Given the description of an element on the screen output the (x, y) to click on. 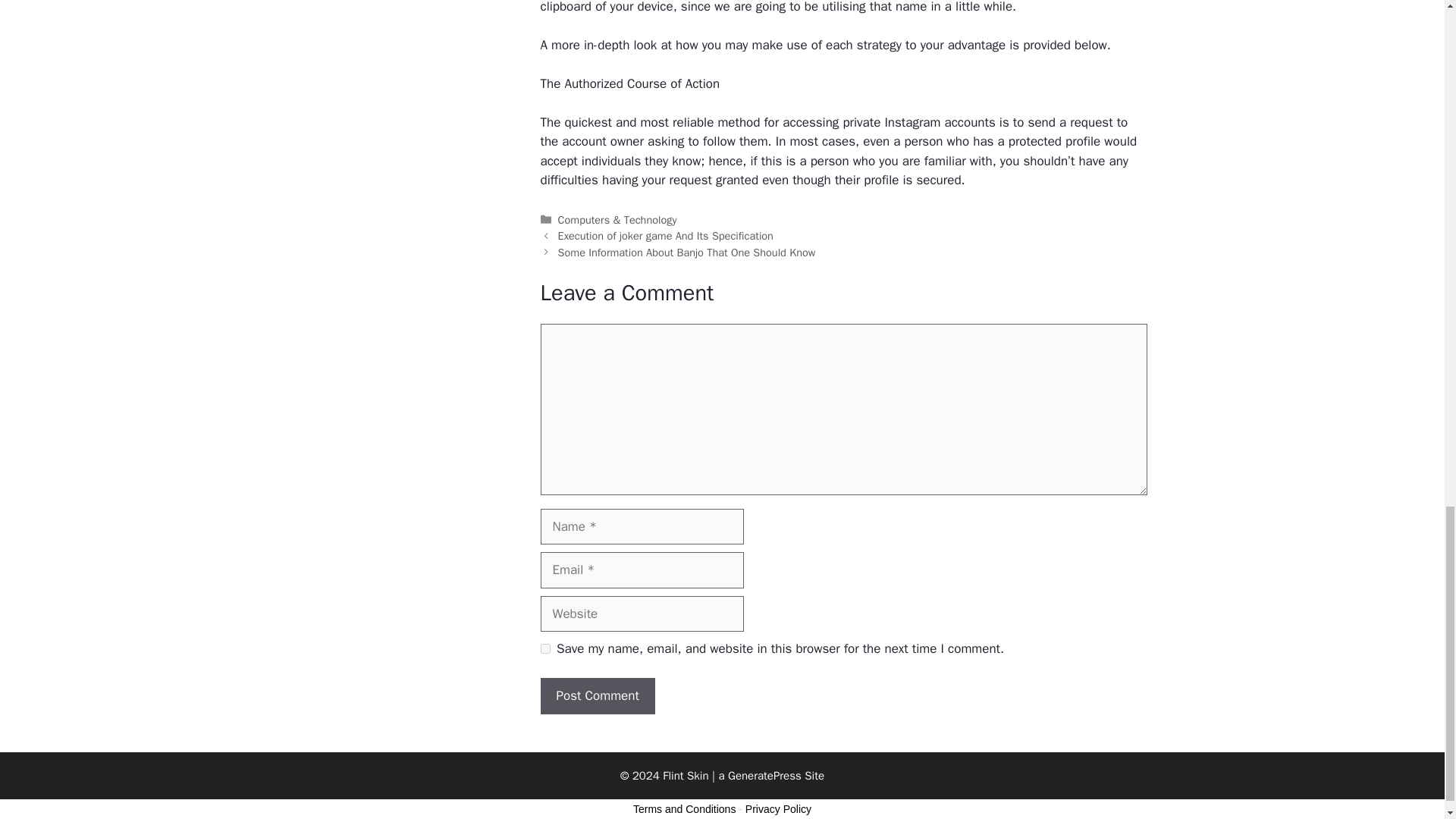
Post Comment (596, 696)
Privacy Policy (777, 808)
Post Comment (596, 696)
yes (545, 648)
Execution of joker game And Its Specification (665, 235)
Terms and Conditions (684, 808)
Some Information About Banjo That One Should Know (686, 252)
Scroll back to top (1406, 162)
GeneratePress (765, 775)
